Given the description of an element on the screen output the (x, y) to click on. 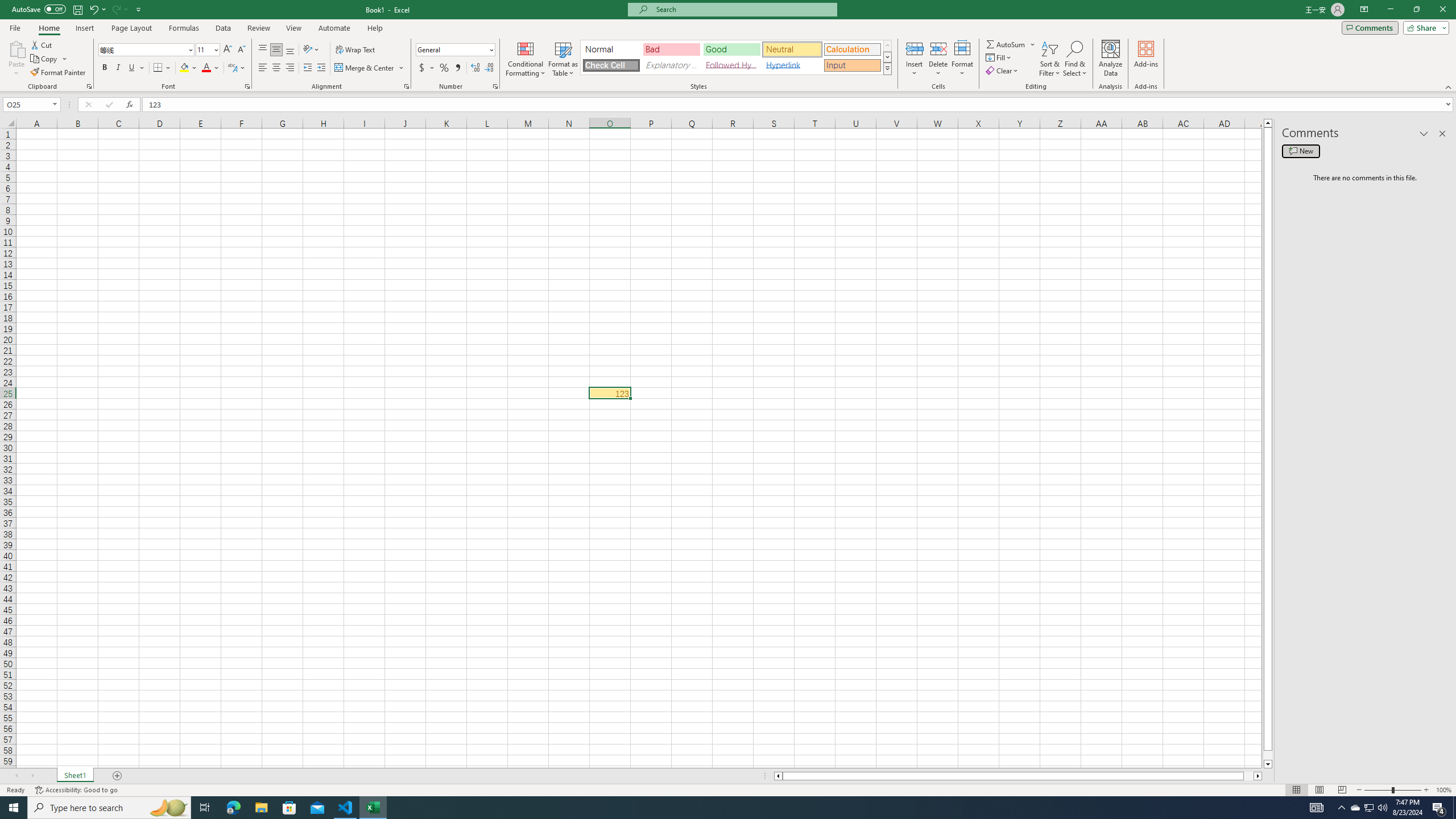
System (6, 6)
Undo (96, 9)
Bottom Border (157, 67)
Ribbon Display Options (1364, 9)
Normal (1296, 790)
Formulas (184, 28)
Italic (118, 67)
AutomationID: CellStylesGallery (736, 57)
Number Format (451, 49)
Percent Style (443, 67)
Bottom Align (290, 49)
Normal (611, 49)
Increase Font Size (227, 49)
Class: NetUIImage (887, 68)
